Given the description of an element on the screen output the (x, y) to click on. 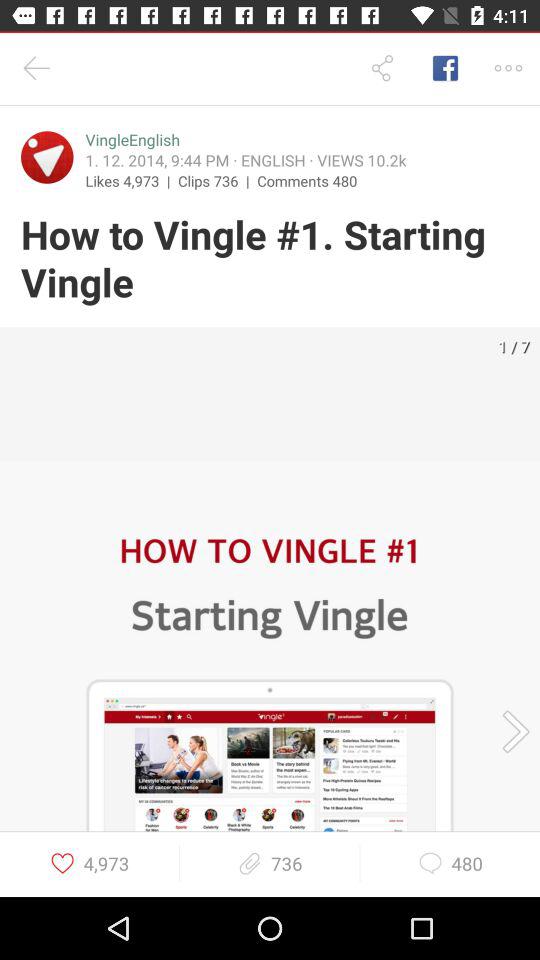
launch the item above the how to vingle icon (307, 180)
